Given the description of an element on the screen output the (x, y) to click on. 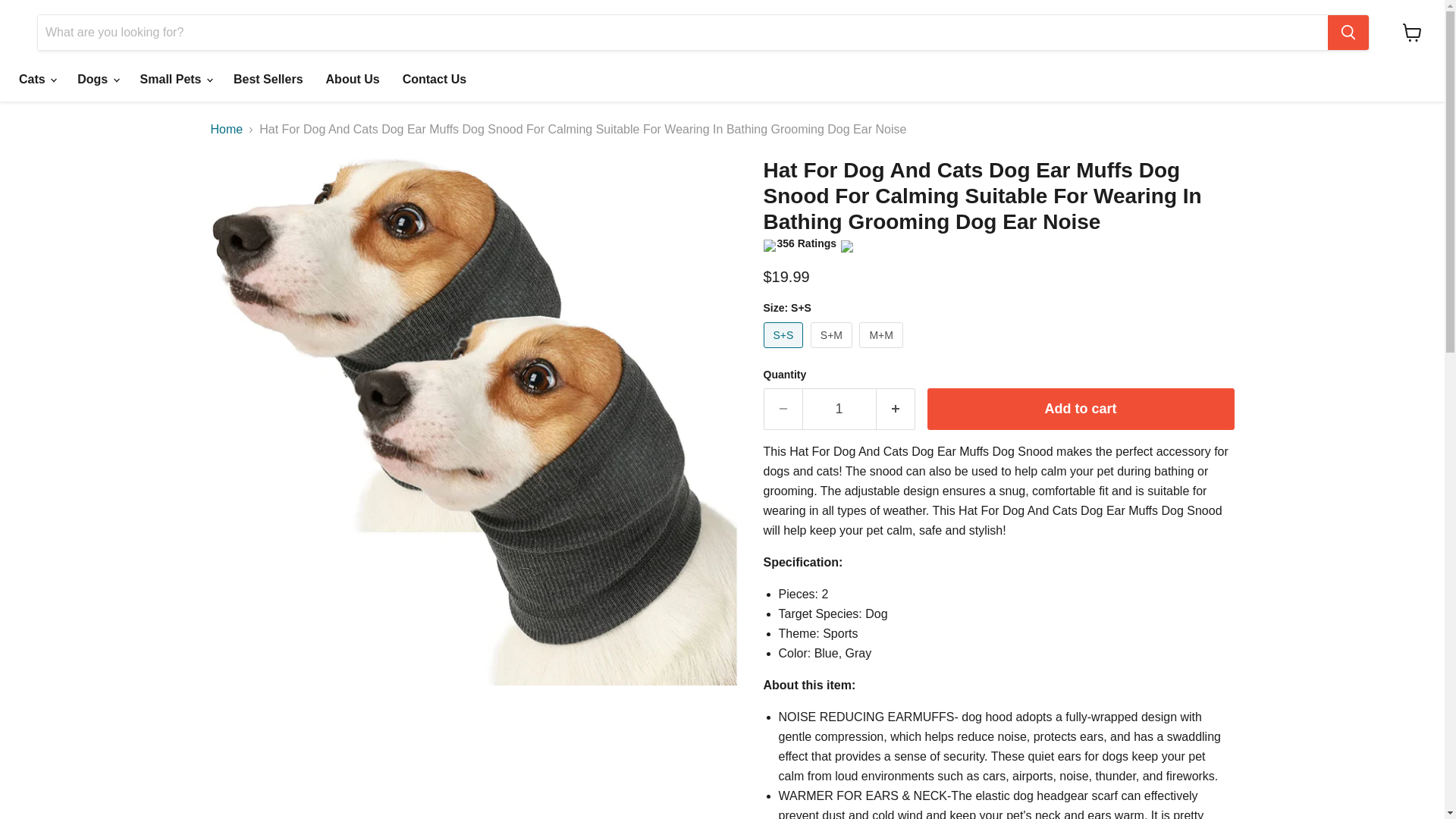
About Us (352, 79)
View cart (1411, 32)
1 (839, 408)
Best Sellers (268, 79)
Contact Us (434, 79)
